Given the description of an element on the screen output the (x, y) to click on. 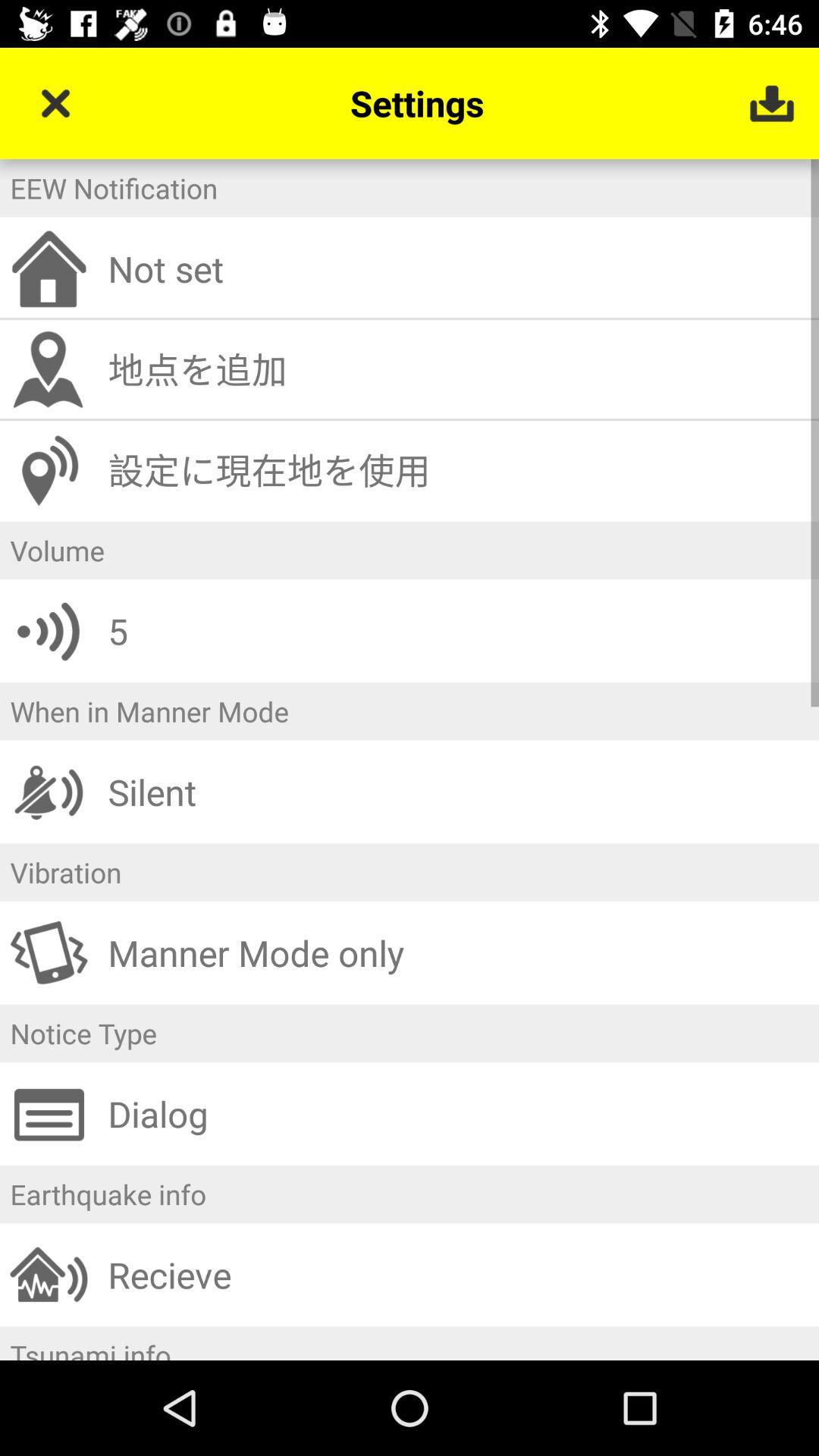
press the when in manner item (409, 711)
